Given the description of an element on the screen output the (x, y) to click on. 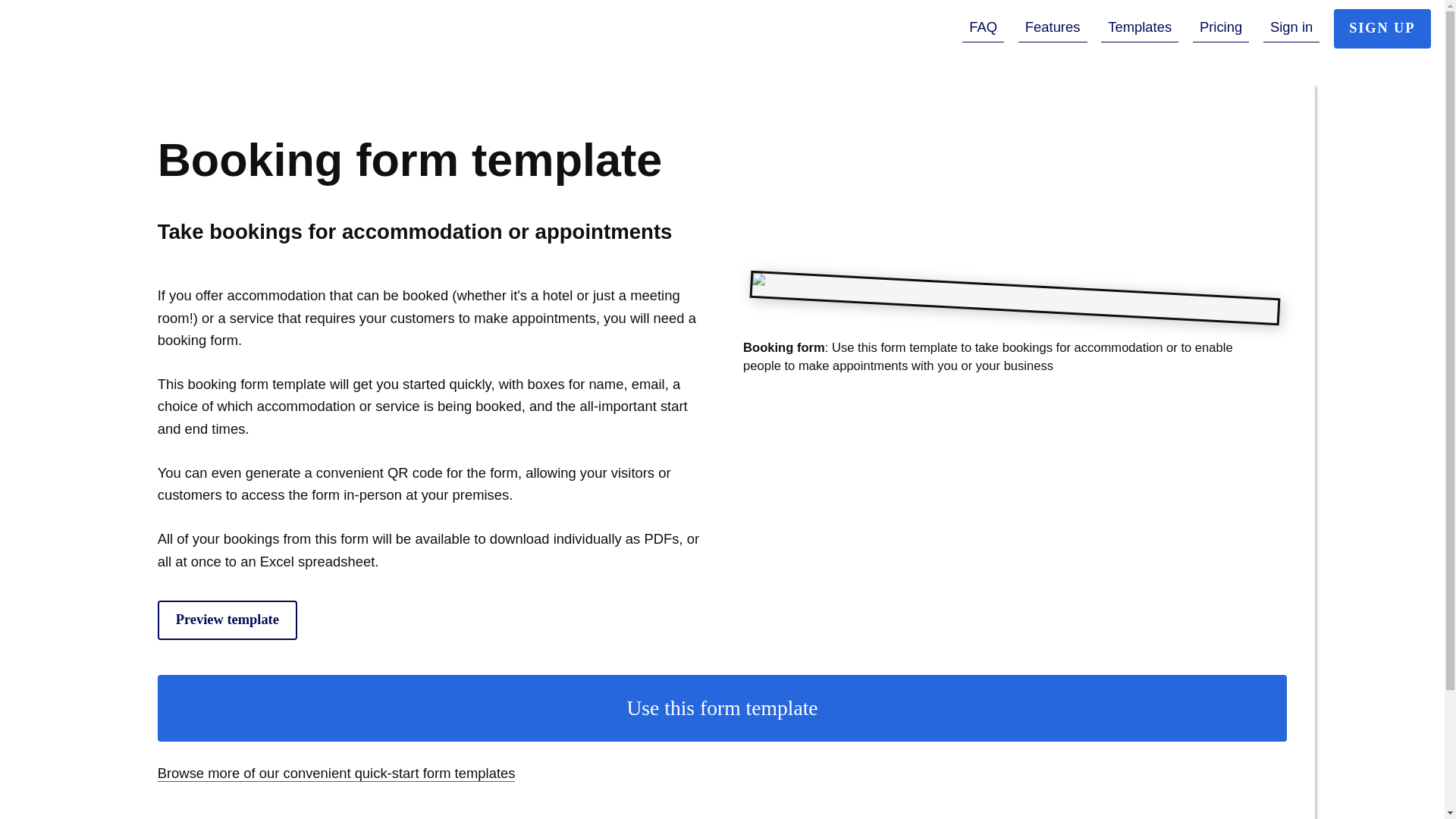
SIGN UP (1382, 28)
Browse more of our convenient quick-start form templates (336, 773)
Pricing (1220, 27)
Use this form template (722, 707)
Templates (1138, 27)
FAQ (983, 27)
Preview template (227, 619)
Sign in (1291, 27)
Fillaform (108, 32)
Features (1052, 27)
Fillaform (108, 32)
